Given the description of an element on the screen output the (x, y) to click on. 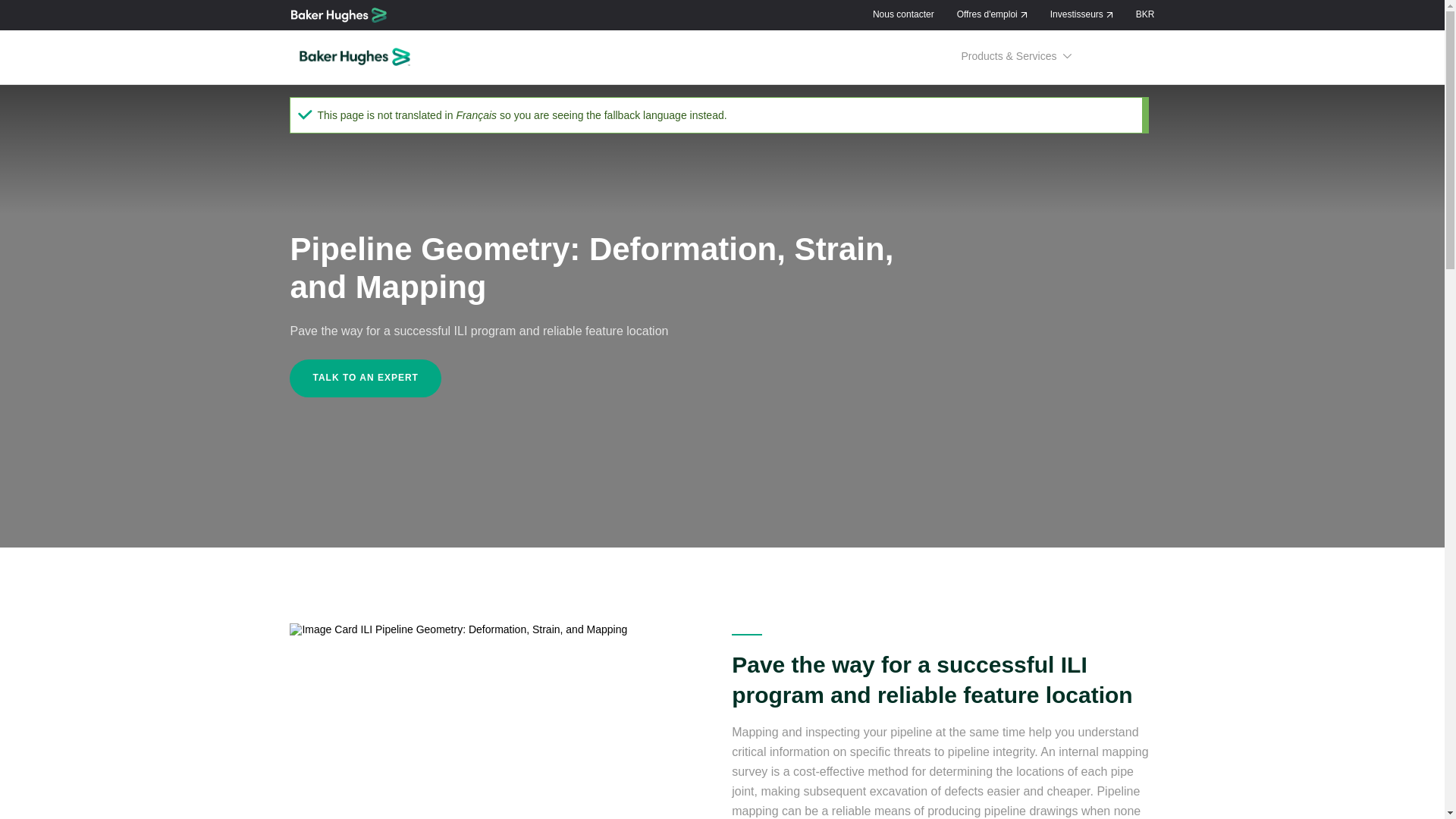
baker hughes investor relations (1081, 14)
Investisseurs (1081, 14)
Nous contacter (903, 14)
BKR (1144, 14)
Accueil (338, 14)
Offres d'emploi (991, 14)
